Given the description of an element on the screen output the (x, y) to click on. 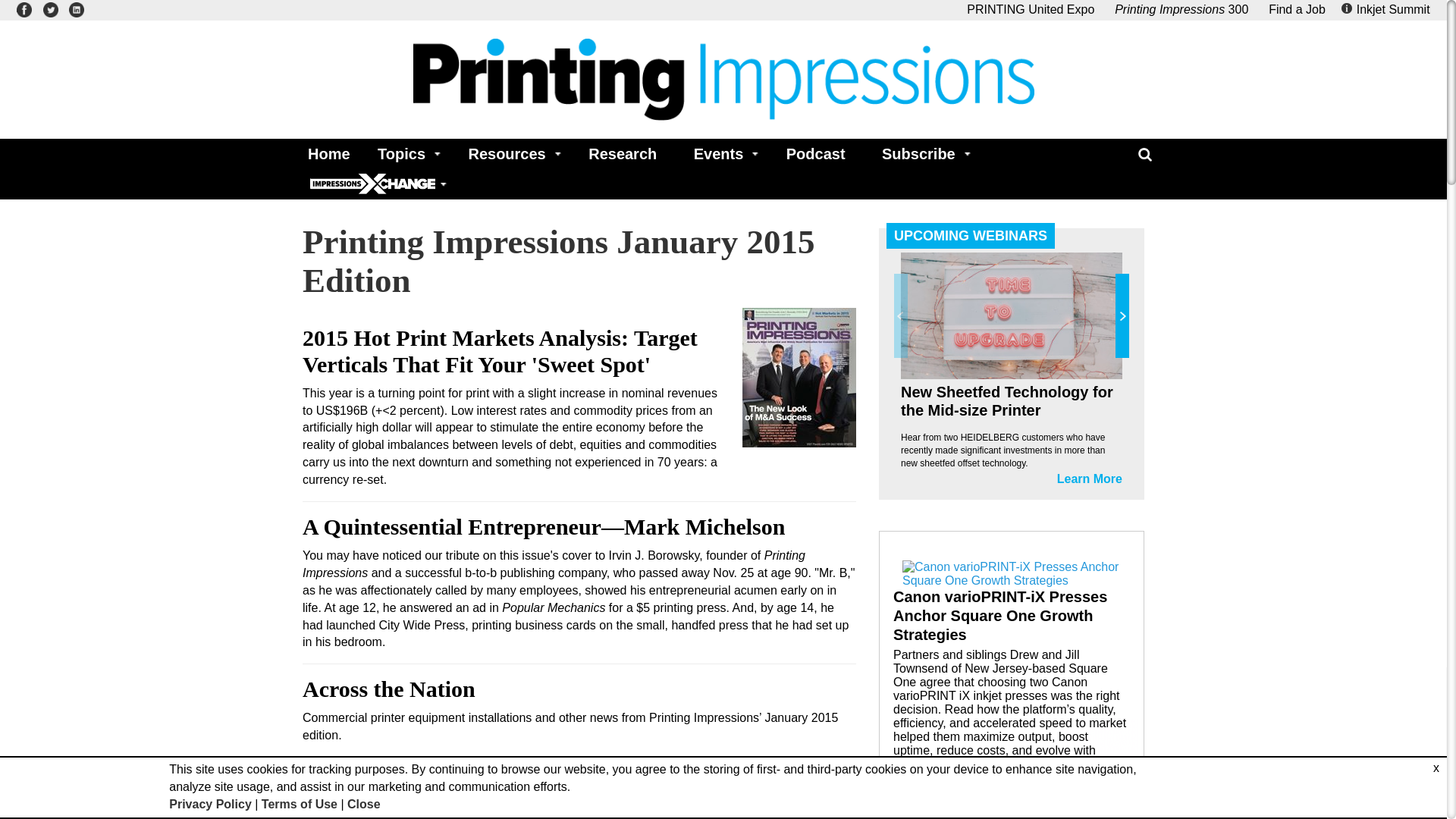
Opens in a new window (1181, 9)
Opens in a new window (50, 9)
Home (324, 153)
Inkjet Summit (1387, 9)
Topics (404, 153)
Printing Impressions 300 (1181, 9)
Opens in a new window (76, 9)
Find a Job (1296, 9)
Opens in a new window (24, 9)
PRINTING United Expo (1030, 9)
Opens in a new window (1030, 9)
3rd party ad content (1011, 665)
Resources (509, 153)
Opens in a new window (1387, 9)
